Given the description of an element on the screen output the (x, y) to click on. 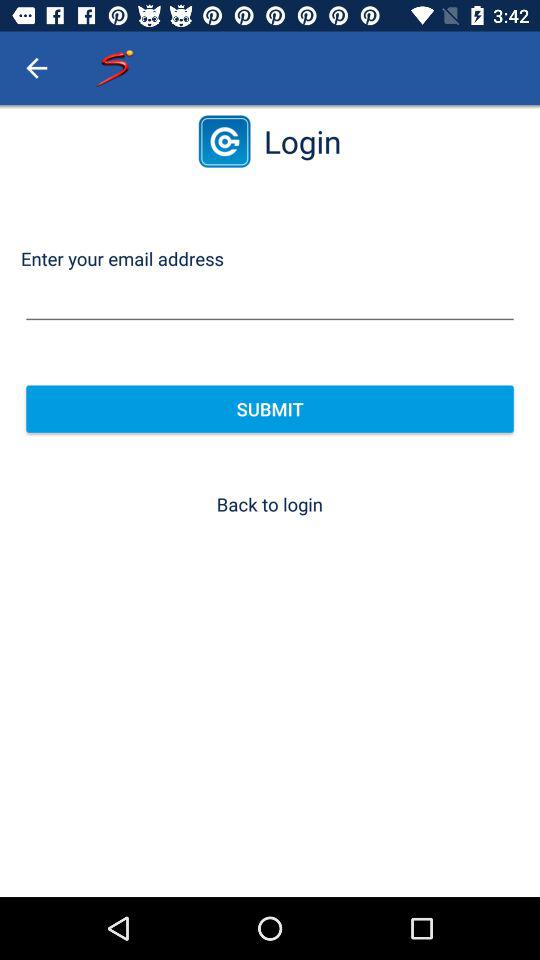
open item below enter your email item (270, 300)
